Given the description of an element on the screen output the (x, y) to click on. 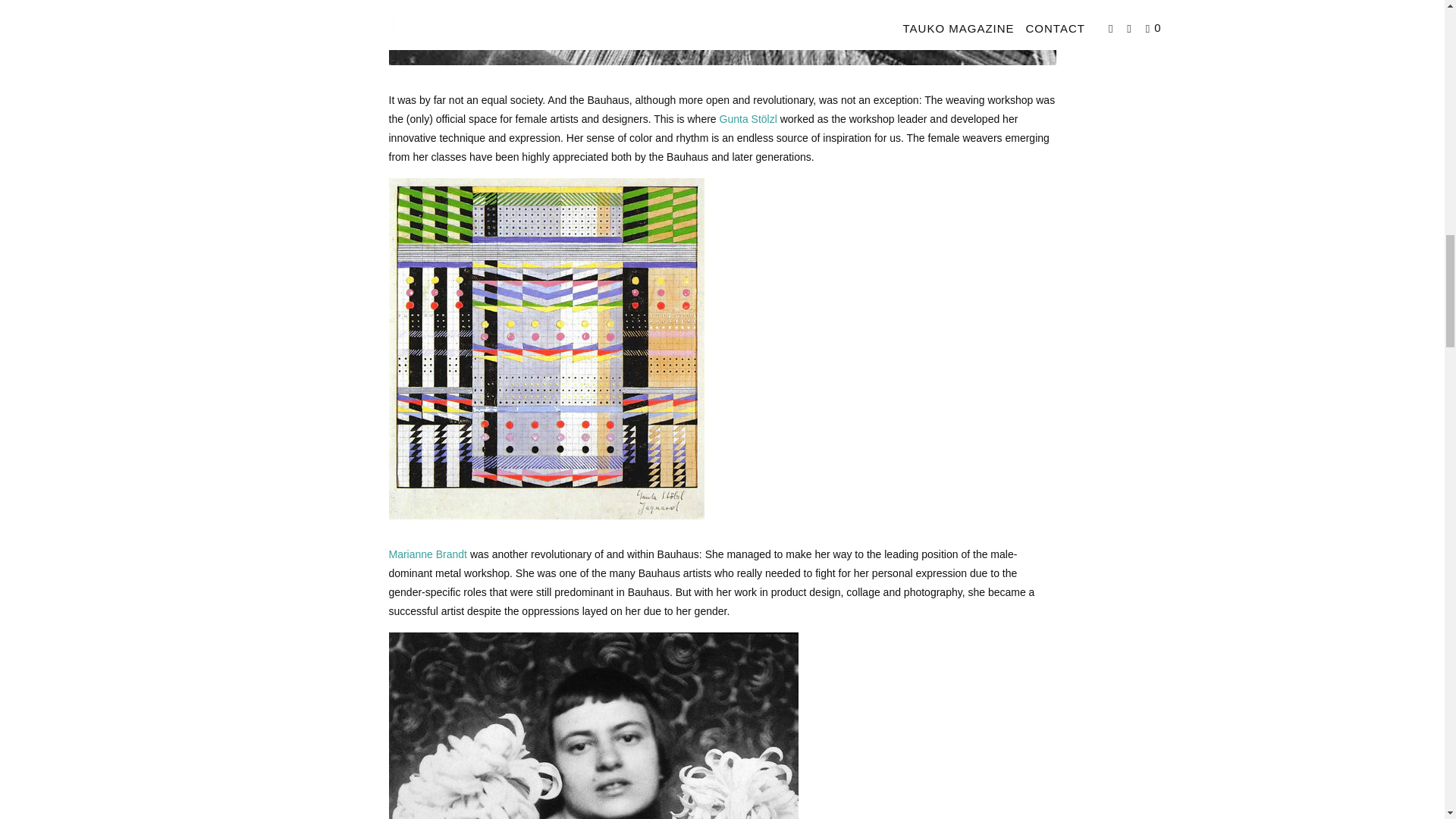
Marianne Brandt (428, 553)
Marianne Brandt (428, 553)
